Given the description of an element on the screen output the (x, y) to click on. 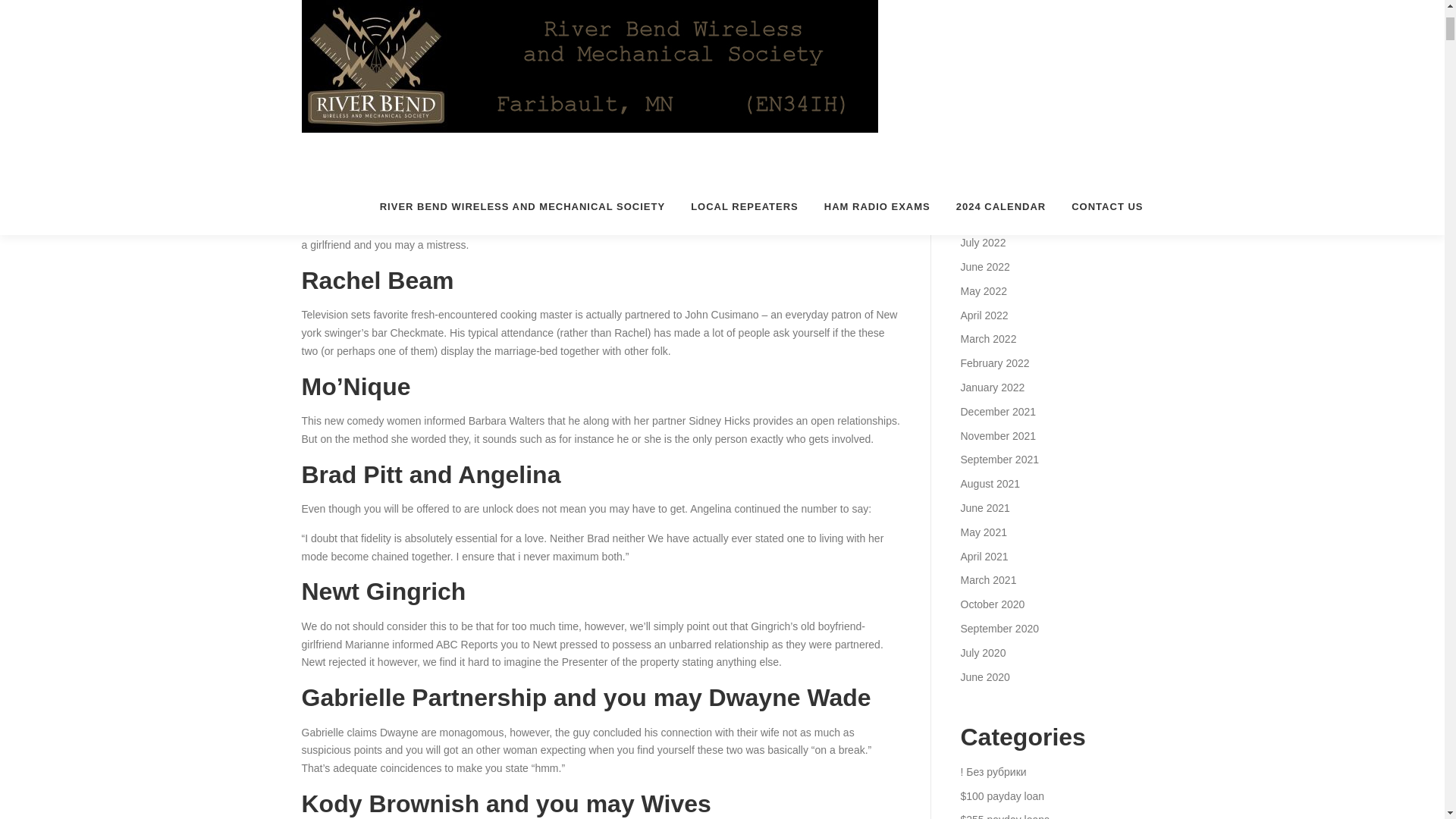
November 2021 (997, 435)
February 2023 (994, 73)
July 2022 (982, 242)
August 2021 (989, 483)
August 2022 (989, 218)
April 2023 (983, 25)
May 2022 (982, 291)
March 2022 (987, 338)
September 2022 (999, 194)
November 2022 (997, 146)
